Given the description of an element on the screen output the (x, y) to click on. 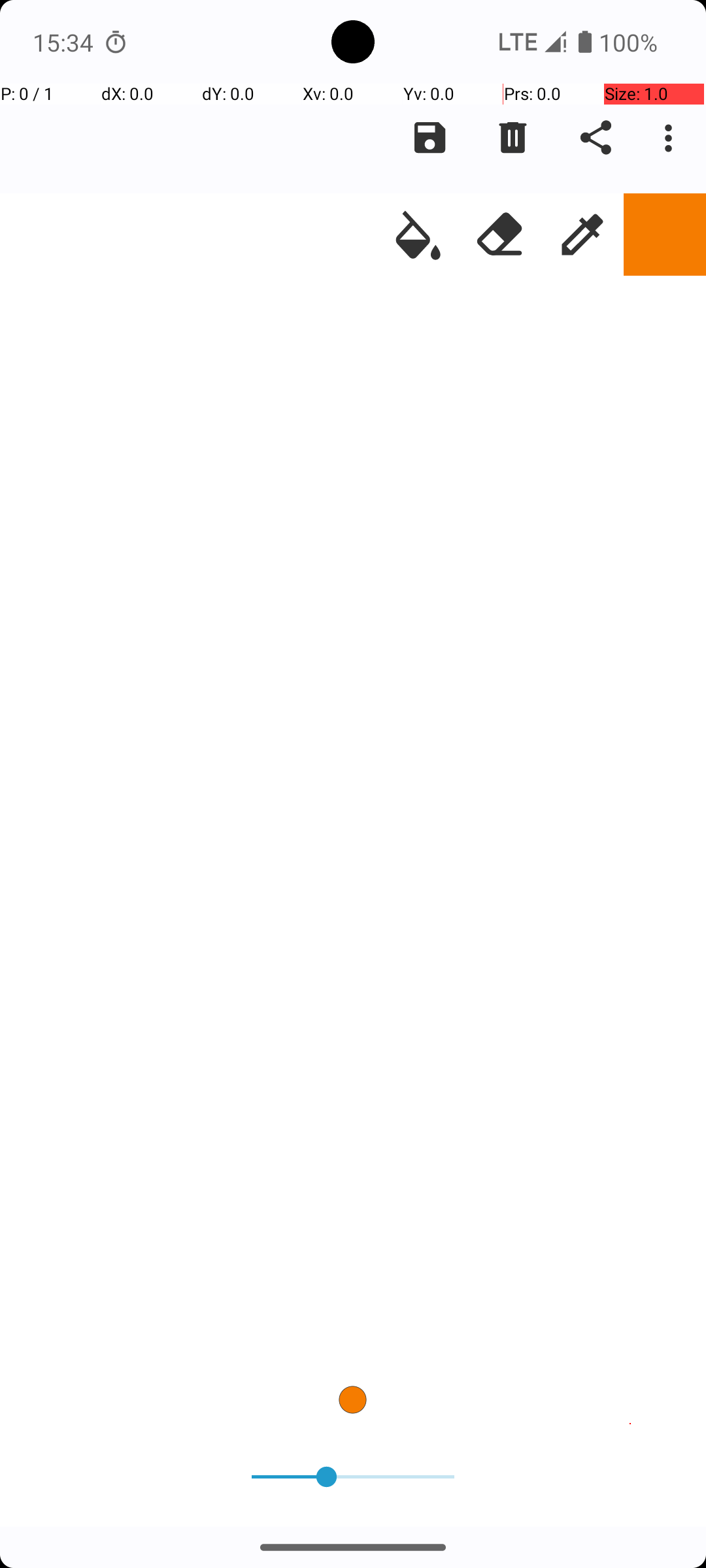
Bucket fill Element type: android.widget.ImageView (417, 234)
Eyedropper Element type: android.widget.ImageView (582, 234)
Change color Element type: android.widget.ImageView (664, 234)
